Given the description of an element on the screen output the (x, y) to click on. 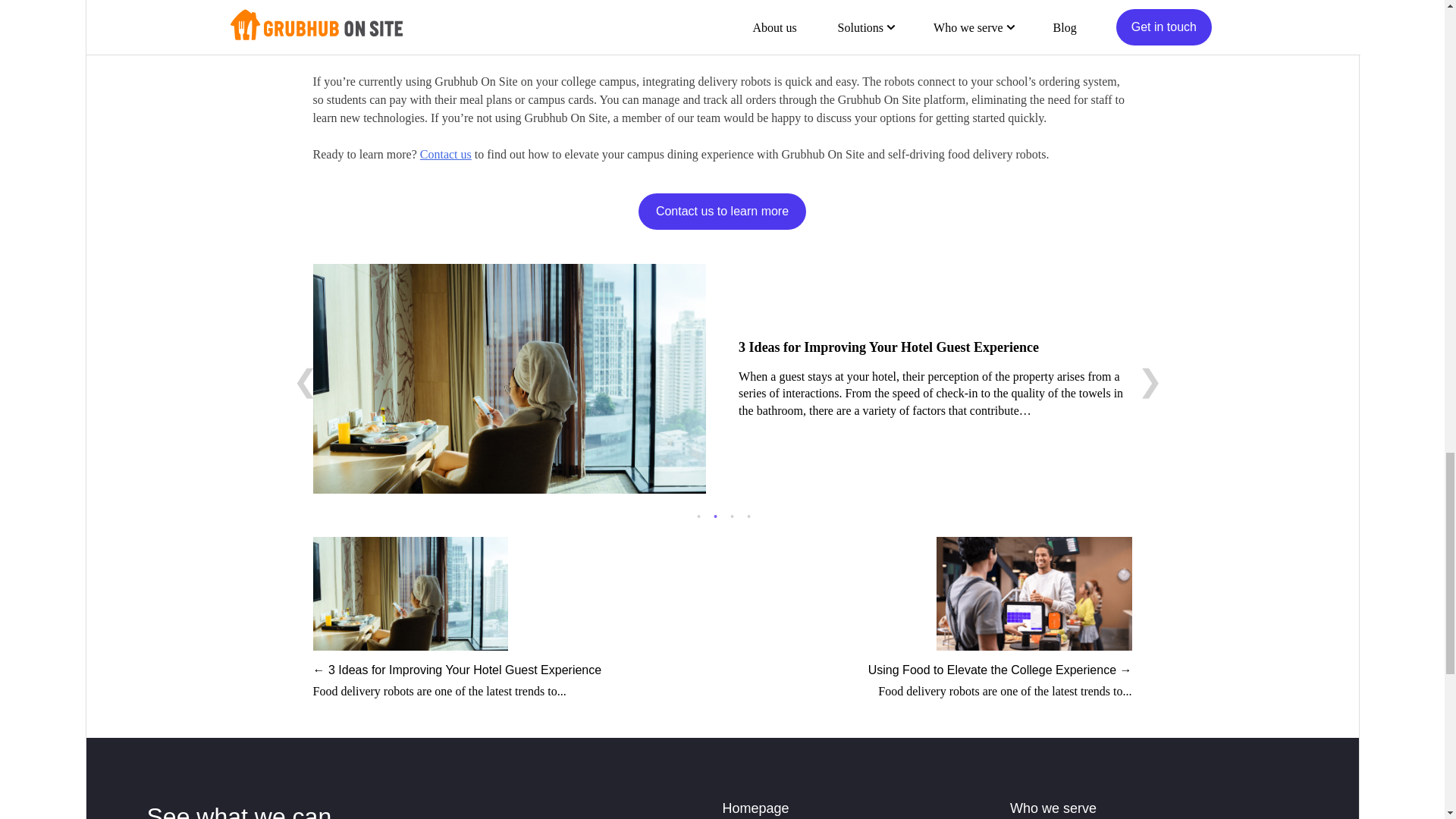
Contact us (445, 154)
1 (697, 515)
2 (713, 515)
4 (747, 515)
Contact us to learn more (722, 211)
3 (730, 515)
